Given the description of an element on the screen output the (x, y) to click on. 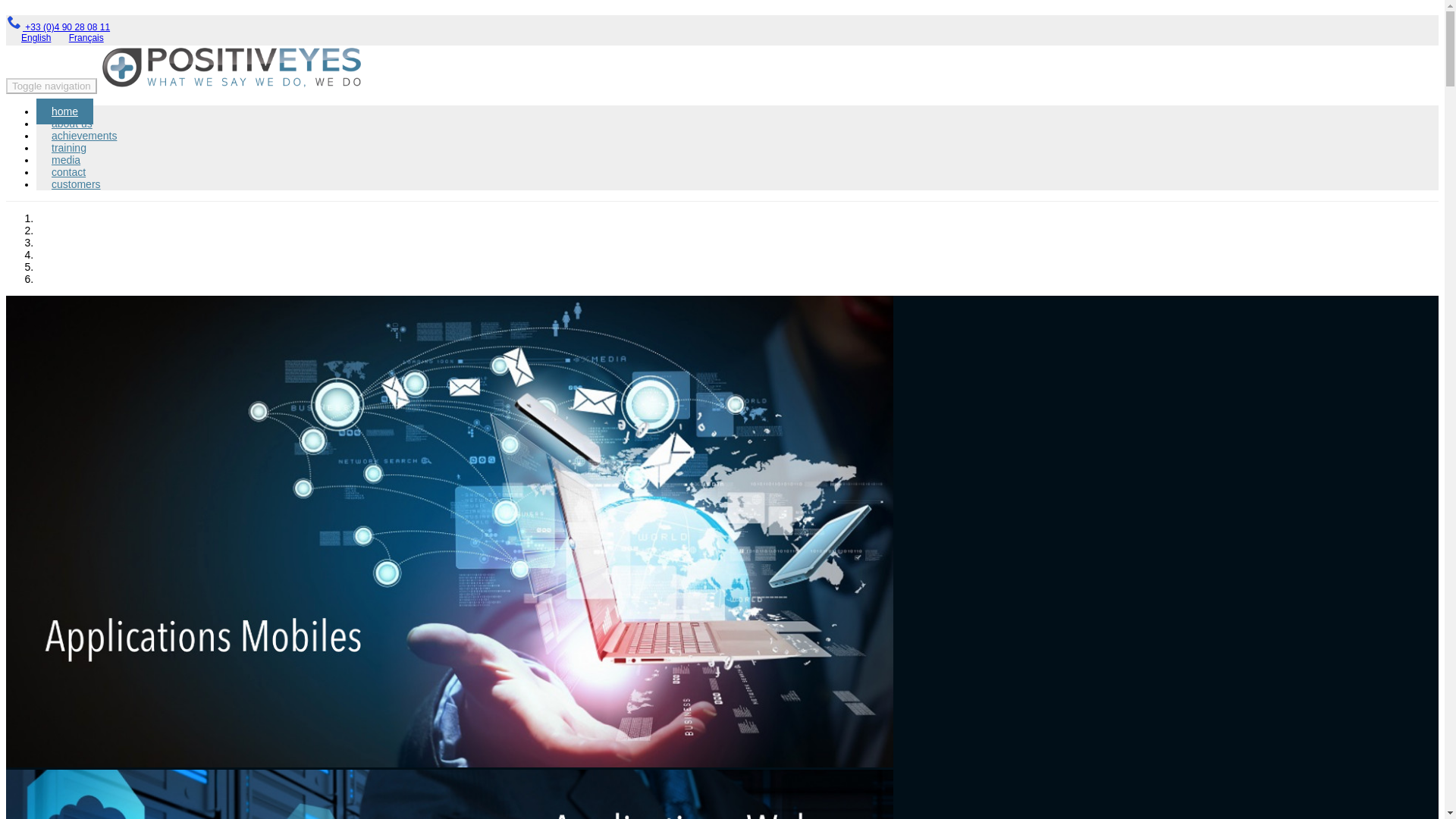
achievements (84, 135)
about us (71, 123)
English (35, 37)
home (64, 111)
training (68, 147)
media (66, 159)
Positiveyes (231, 67)
Toggle navigation (51, 85)
customers (76, 184)
contact (68, 171)
